Given the description of an element on the screen output the (x, y) to click on. 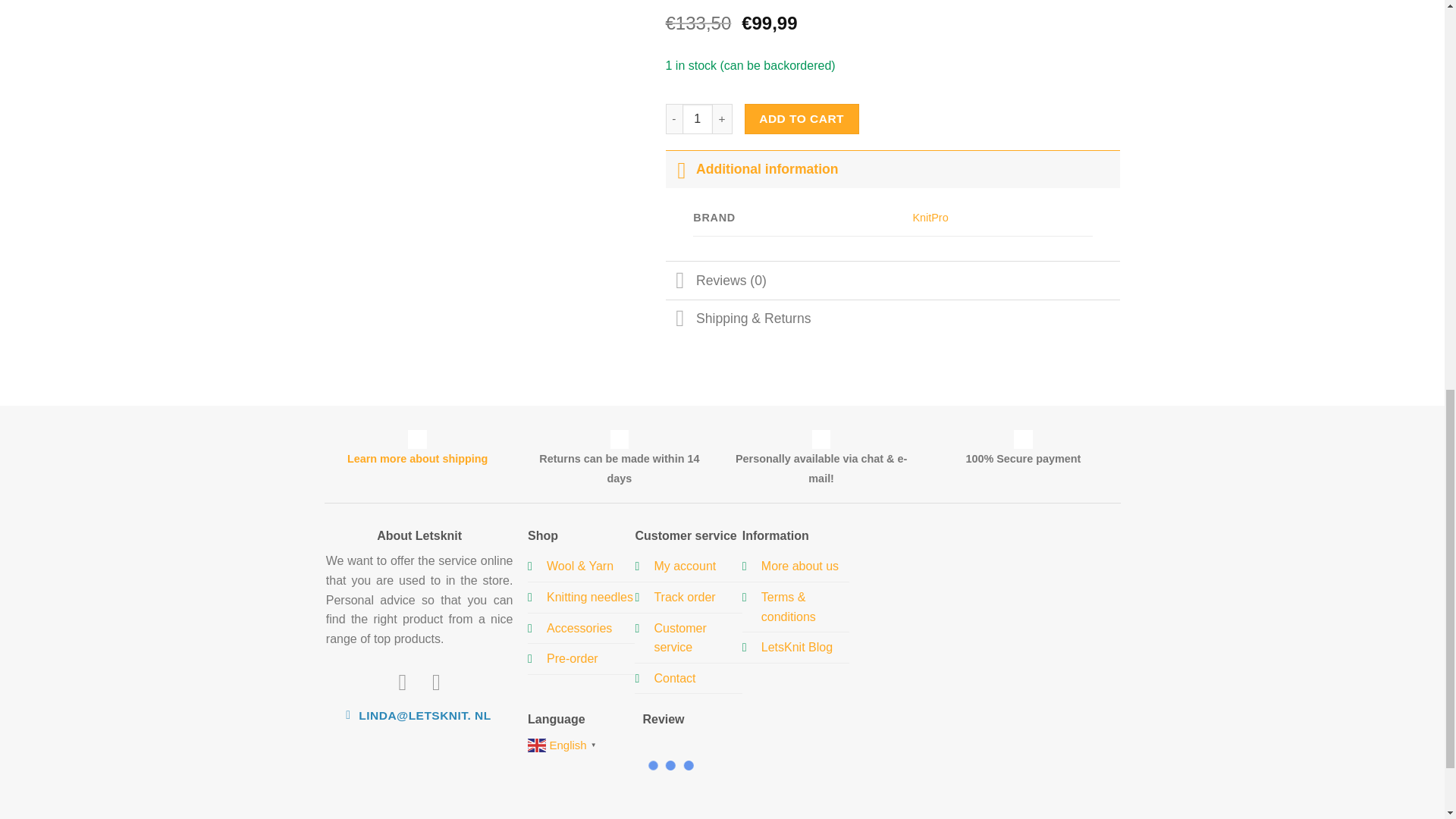
KnitPro (929, 217)
1 (697, 119)
Follow us on Instagram (436, 681)
Follow us on facebook (402, 681)
Additional information (893, 168)
ADD TO CART (801, 119)
